Given the description of an element on the screen output the (x, y) to click on. 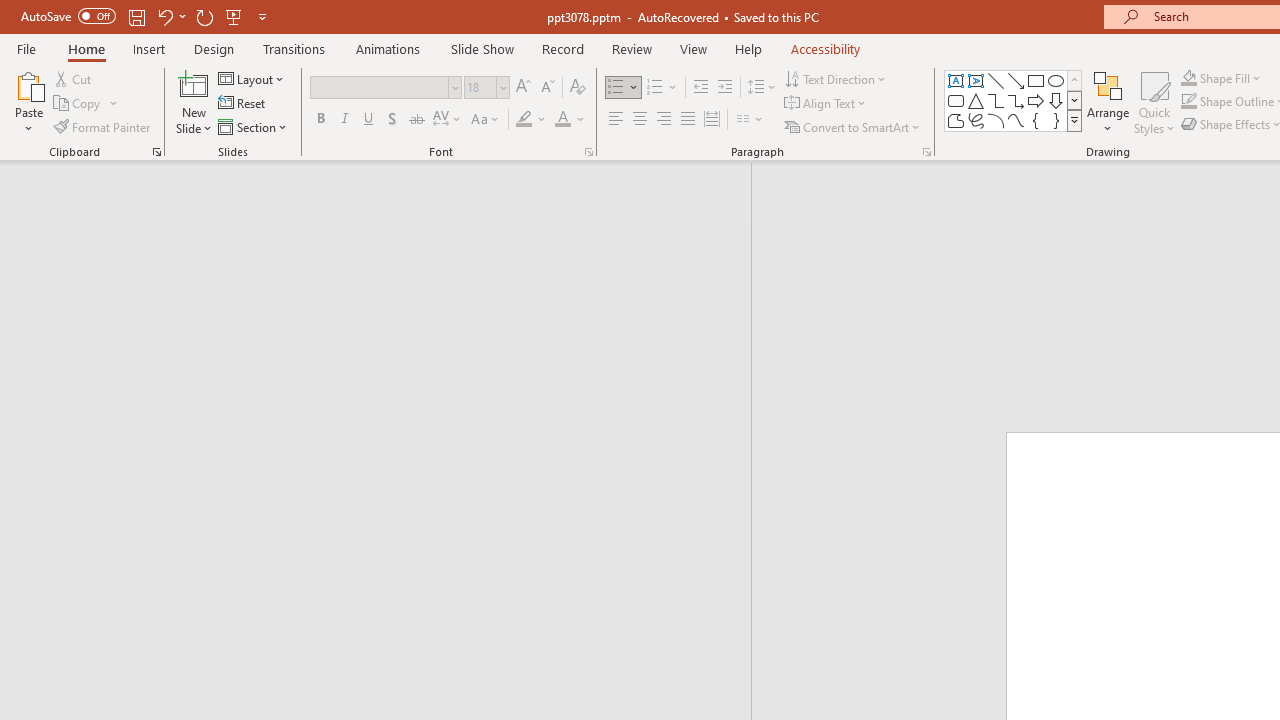
Text Box (955, 80)
Open (502, 87)
Cut (73, 78)
Bullets (616, 87)
Line Spacing (762, 87)
Character Spacing (447, 119)
Arrow: Down (1055, 100)
Numbering (654, 87)
New Slide (193, 102)
Row Down (1074, 100)
Italic (344, 119)
